Given the description of an element on the screen output the (x, y) to click on. 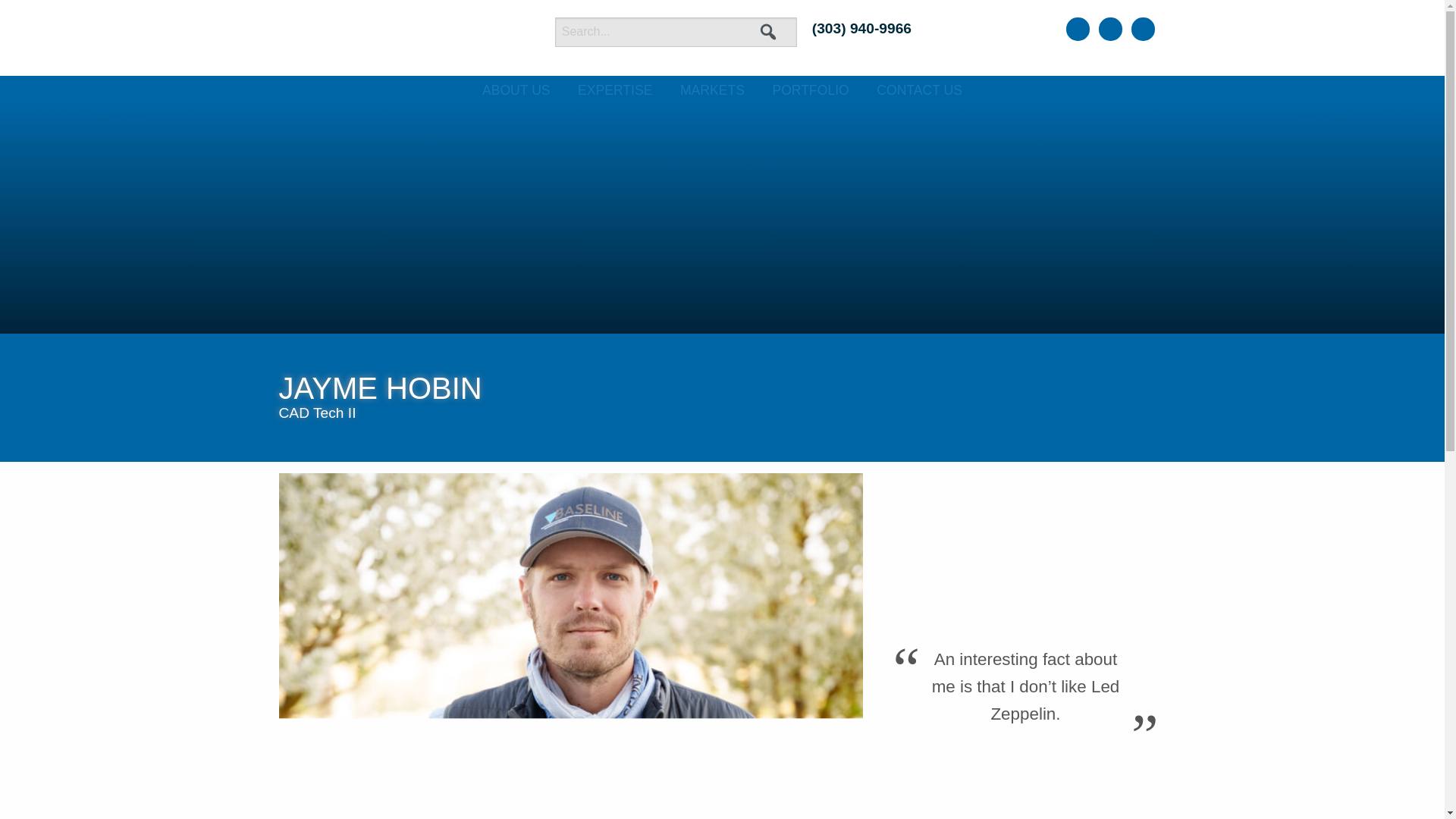
EXPERTISE (614, 91)
Search for: (675, 30)
ABOUT US (516, 91)
Baseline Corp (398, 37)
